Given the description of an element on the screen output the (x, y) to click on. 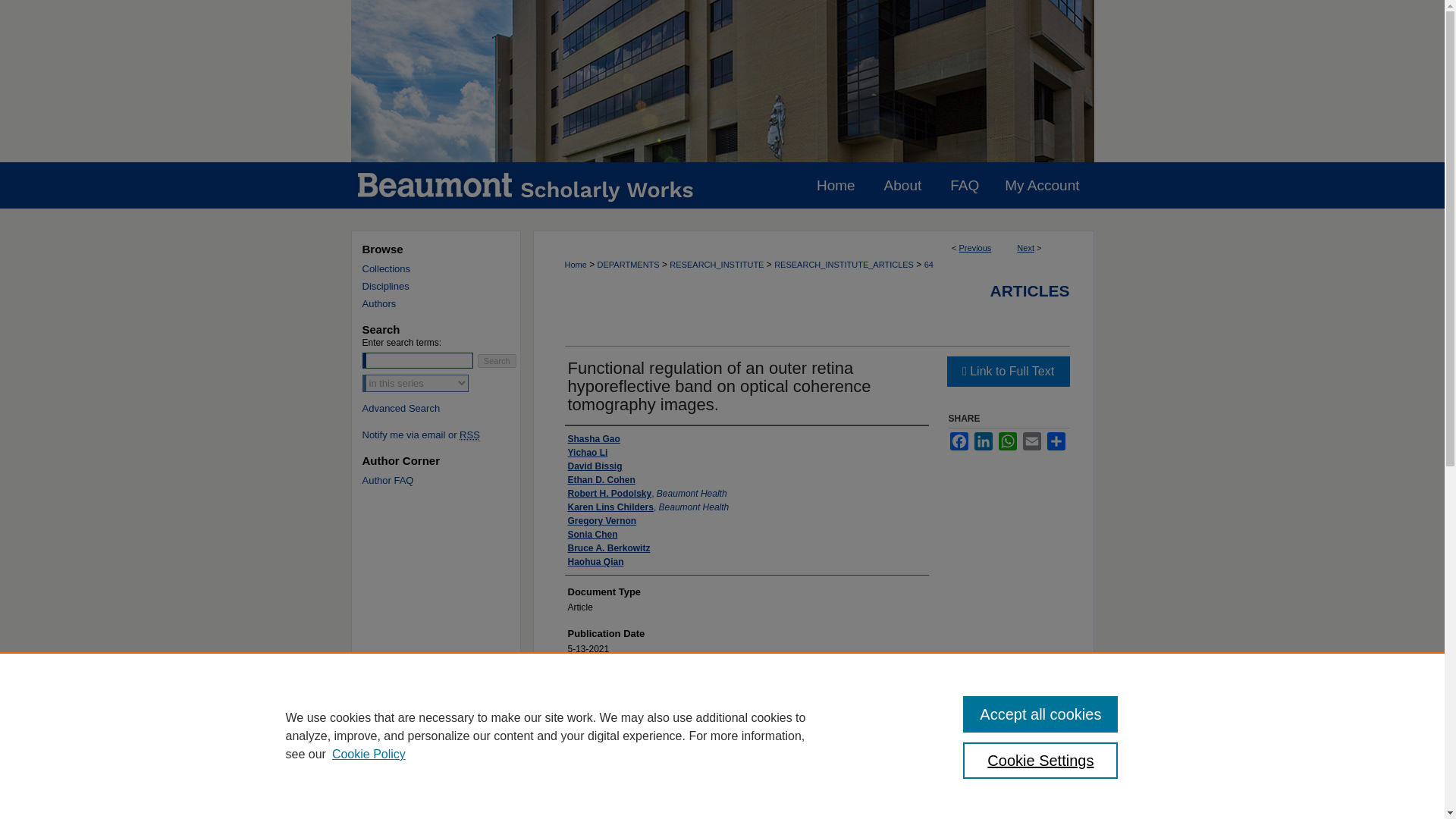
Browse by Disciplines (447, 285)
Yichao Li (587, 452)
DEPARTMENTS (627, 264)
Haohua Qian (595, 561)
Search (496, 360)
Ethan D. Cohen (600, 479)
Search (496, 360)
Sonia Chen (592, 534)
Email or RSS Notifications (447, 434)
Home (575, 264)
Really Simple Syndication (470, 435)
About (902, 185)
Email (1031, 441)
LinkedIn (982, 441)
Beaumont Health Scholarly Works and Archives (721, 81)
